Given the description of an element on the screen output the (x, y) to click on. 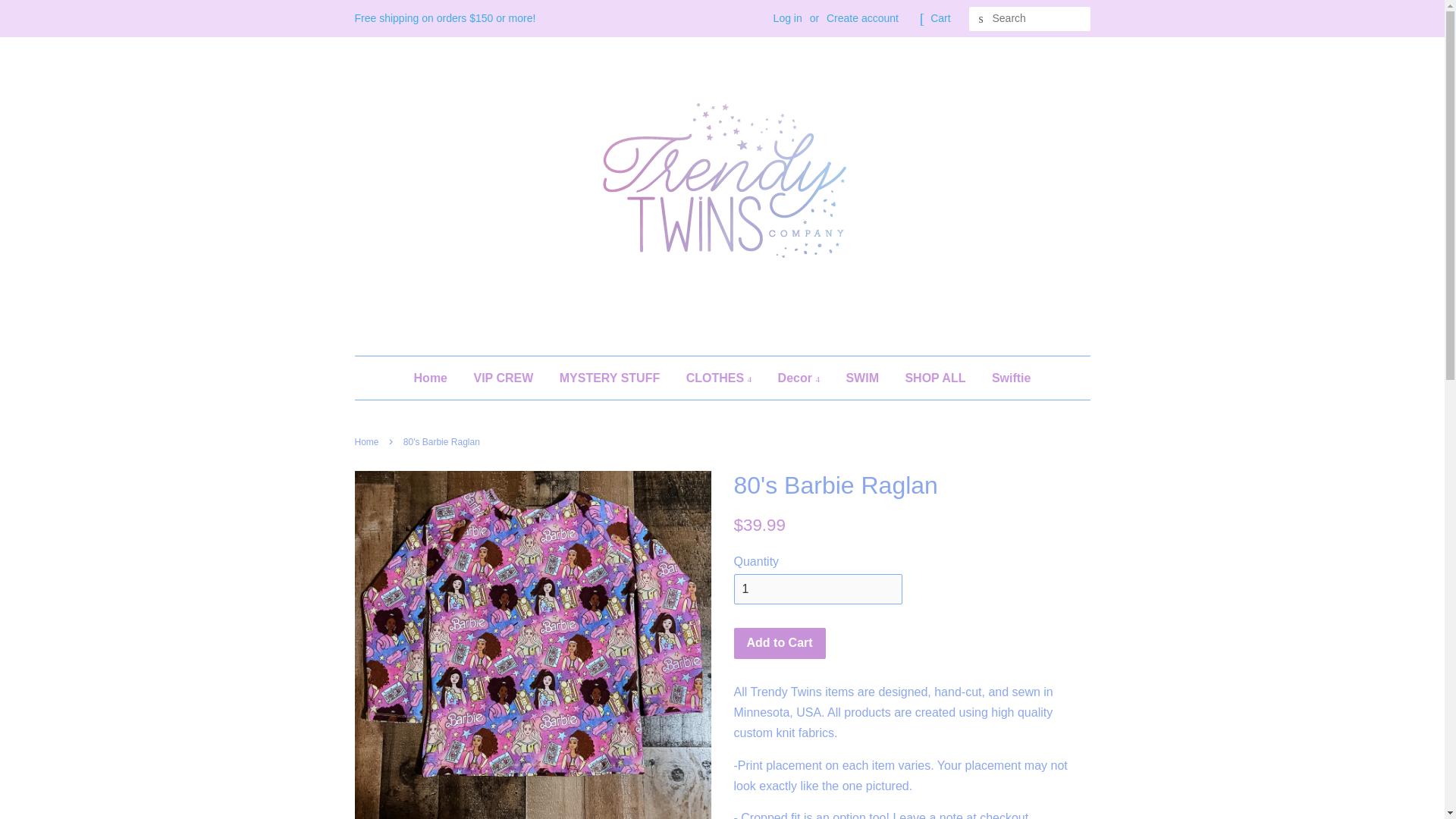
Search (980, 18)
1 (817, 589)
Home (435, 377)
VIP CREW (502, 377)
Log in (787, 18)
Cart (940, 18)
Create account (862, 18)
Back to the frontpage (368, 441)
CLOTHES (718, 377)
MYSTERY STUFF (609, 377)
